Given the description of an element on the screen output the (x, y) to click on. 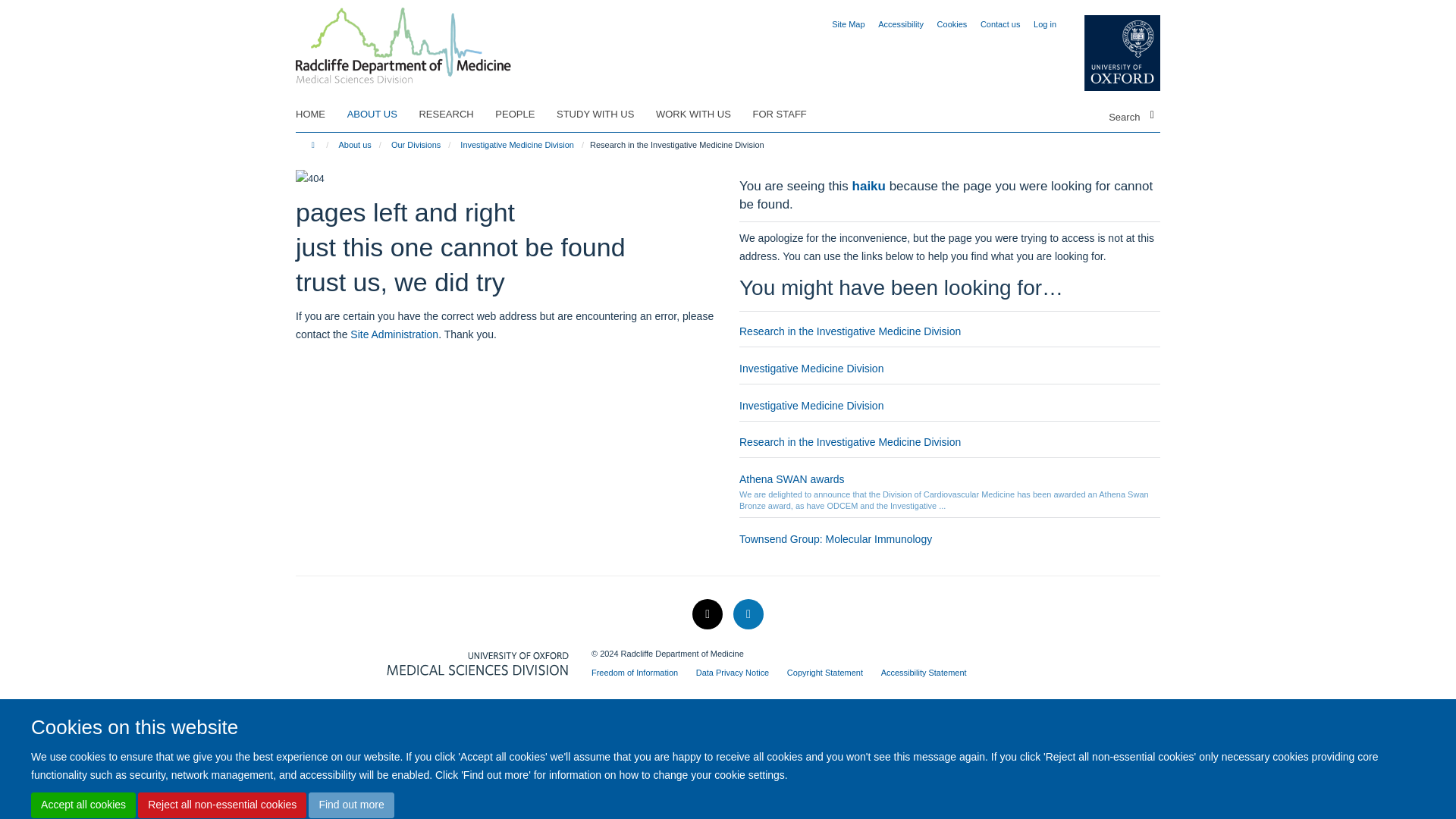
HOME (319, 114)
ABOUT US (381, 114)
Log in (1045, 23)
RESEARCH (455, 114)
Cookies (952, 23)
WORK WITH US (702, 114)
Oxford University (1110, 52)
Radcliffe Department of Medicine (403, 40)
About us (354, 144)
FOR STAFF (788, 114)
PEOPLE (524, 114)
STUDY WITH US (604, 114)
Accessibility (900, 23)
Site Map (847, 23)
Contact us (999, 23)
